Given the description of an element on the screen output the (x, y) to click on. 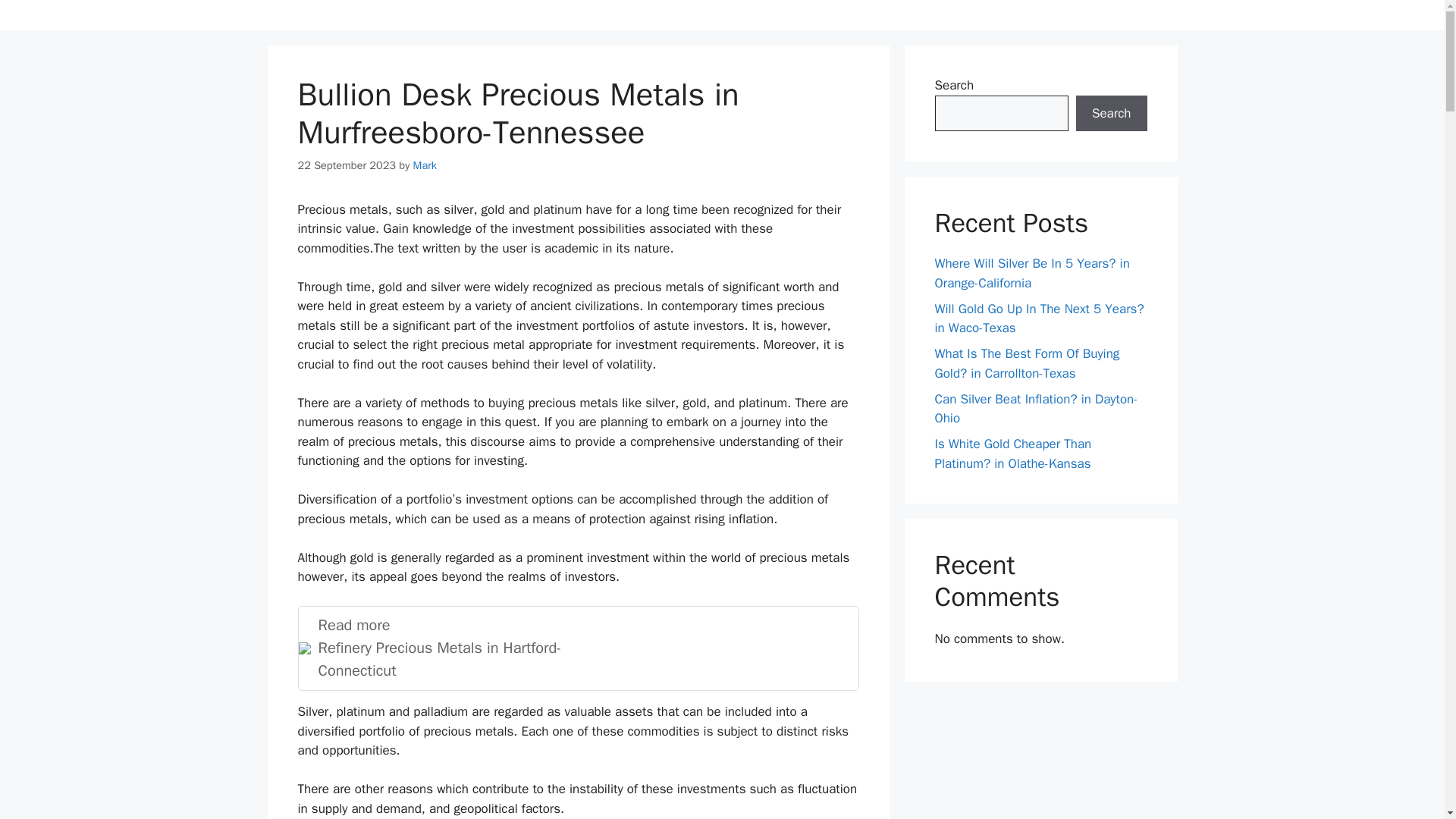
Where Will Silver Be In 5 Years? in Orange-California (1031, 273)
Can Silver Beat Inflation? in Dayton-Ohio (1035, 408)
Search (578, 648)
What Is The Best Form Of Buying Gold? in Carrollton-Texas (1111, 113)
Mark (1026, 363)
Will Gold Go Up In The Next 5 Years? in Waco-Texas (424, 164)
View all posts by Mark (1038, 317)
Is White Gold Cheaper Than Platinum? in Olathe-Kansas (424, 164)
